Given the description of an element on the screen output the (x, y) to click on. 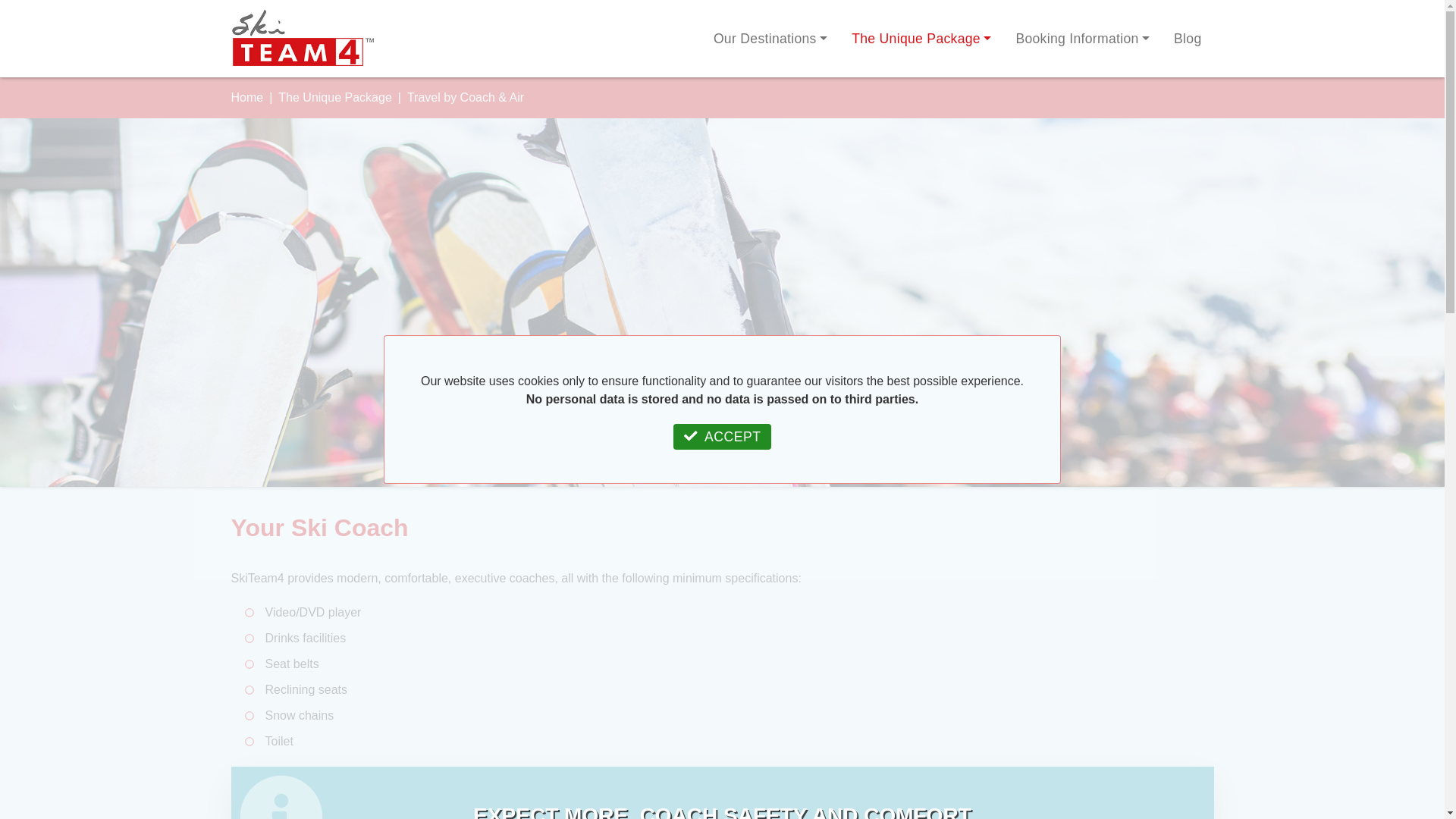
Booking Information (1082, 38)
Our Destinations (770, 38)
Blog (1187, 38)
The Unique Package (921, 38)
The Unique Package (334, 97)
Home (246, 97)
